Given the description of an element on the screen output the (x, y) to click on. 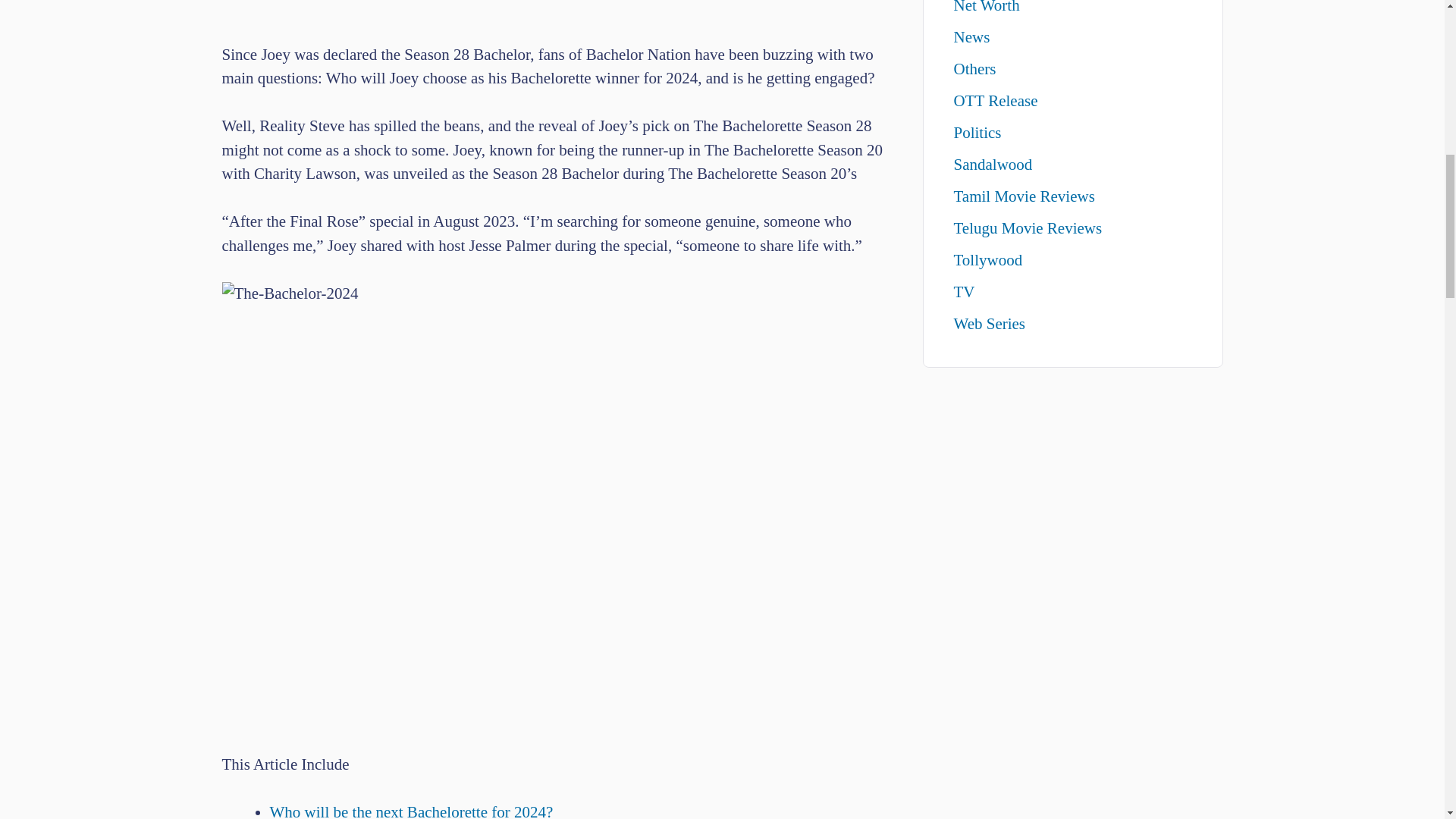
Who will be the next Bachelorette for 2024? (411, 811)
